Given the description of an element on the screen output the (x, y) to click on. 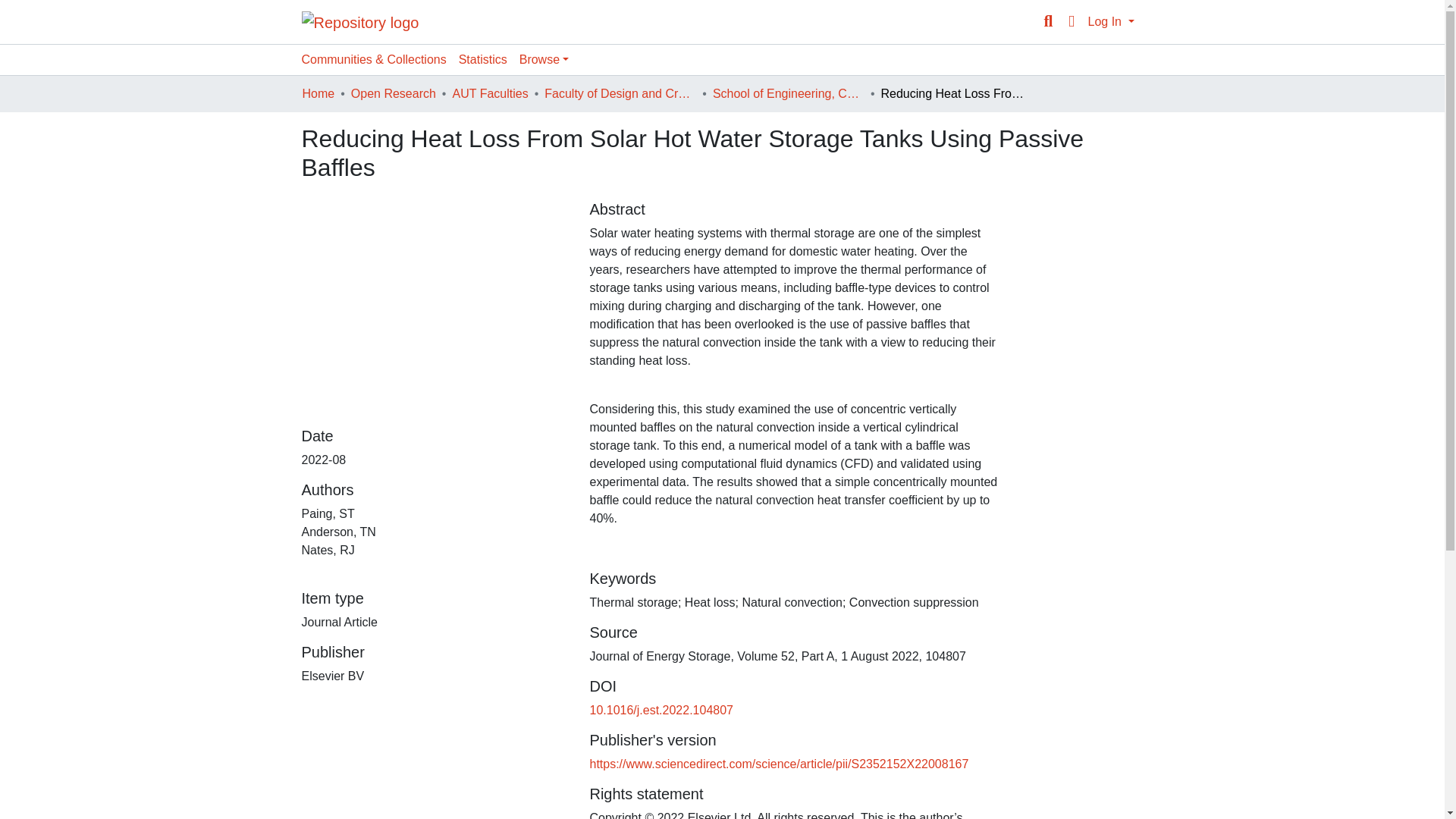
Home (317, 94)
Browse (544, 60)
Statistics (482, 60)
Open Research (392, 94)
AUT Faculties (489, 94)
Log In (1110, 21)
Statistics (482, 60)
Language switch (1071, 22)
Search (1048, 22)
